Given the description of an element on the screen output the (x, y) to click on. 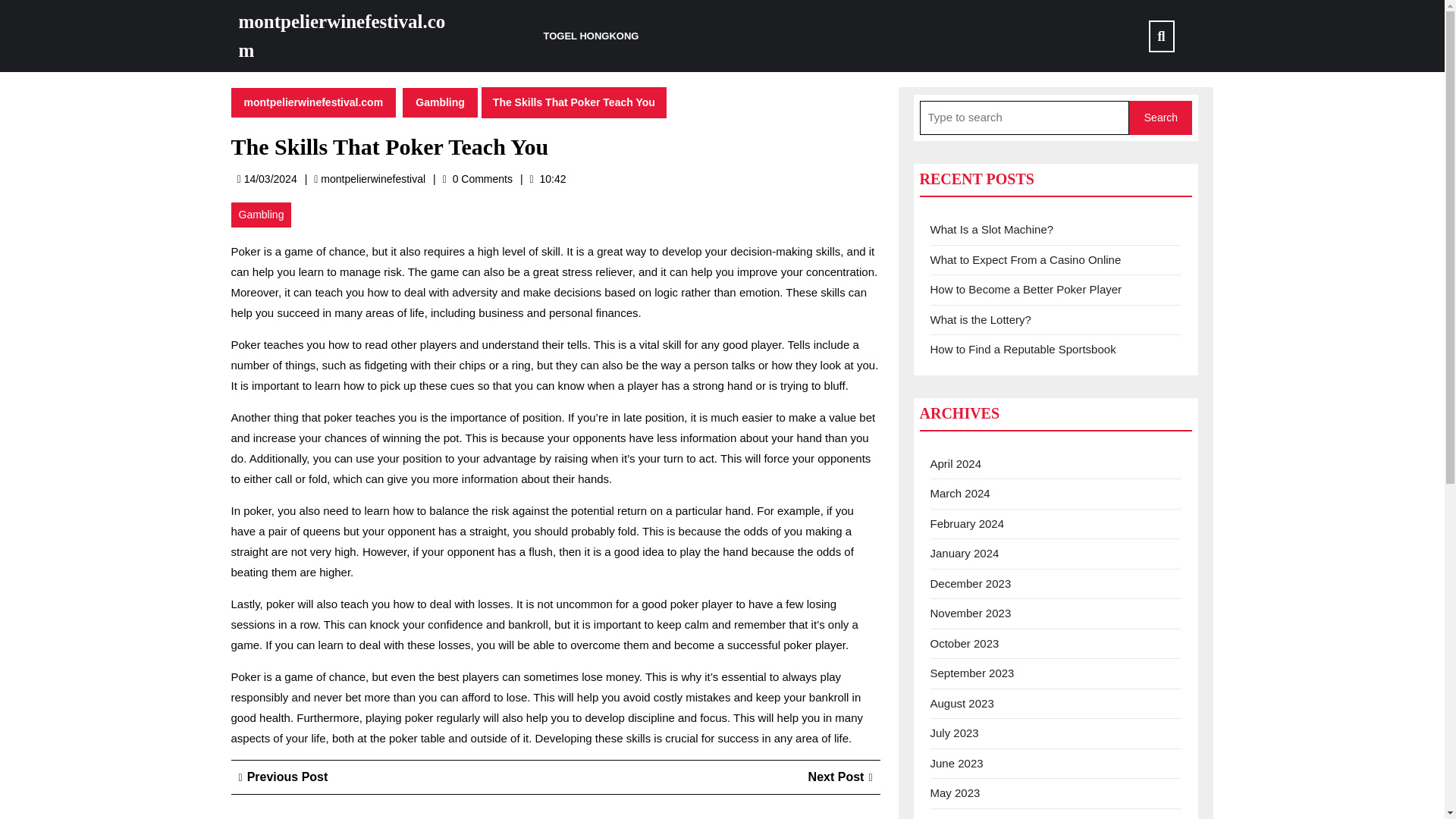
Gambling (260, 214)
July 2023 (954, 732)
Gambling (372, 178)
montpelierwinefestival.com (440, 102)
September 2023 (341, 35)
Search (971, 672)
What is the Lottery? (1160, 117)
April 2024 (282, 776)
